Given the description of an element on the screen output the (x, y) to click on. 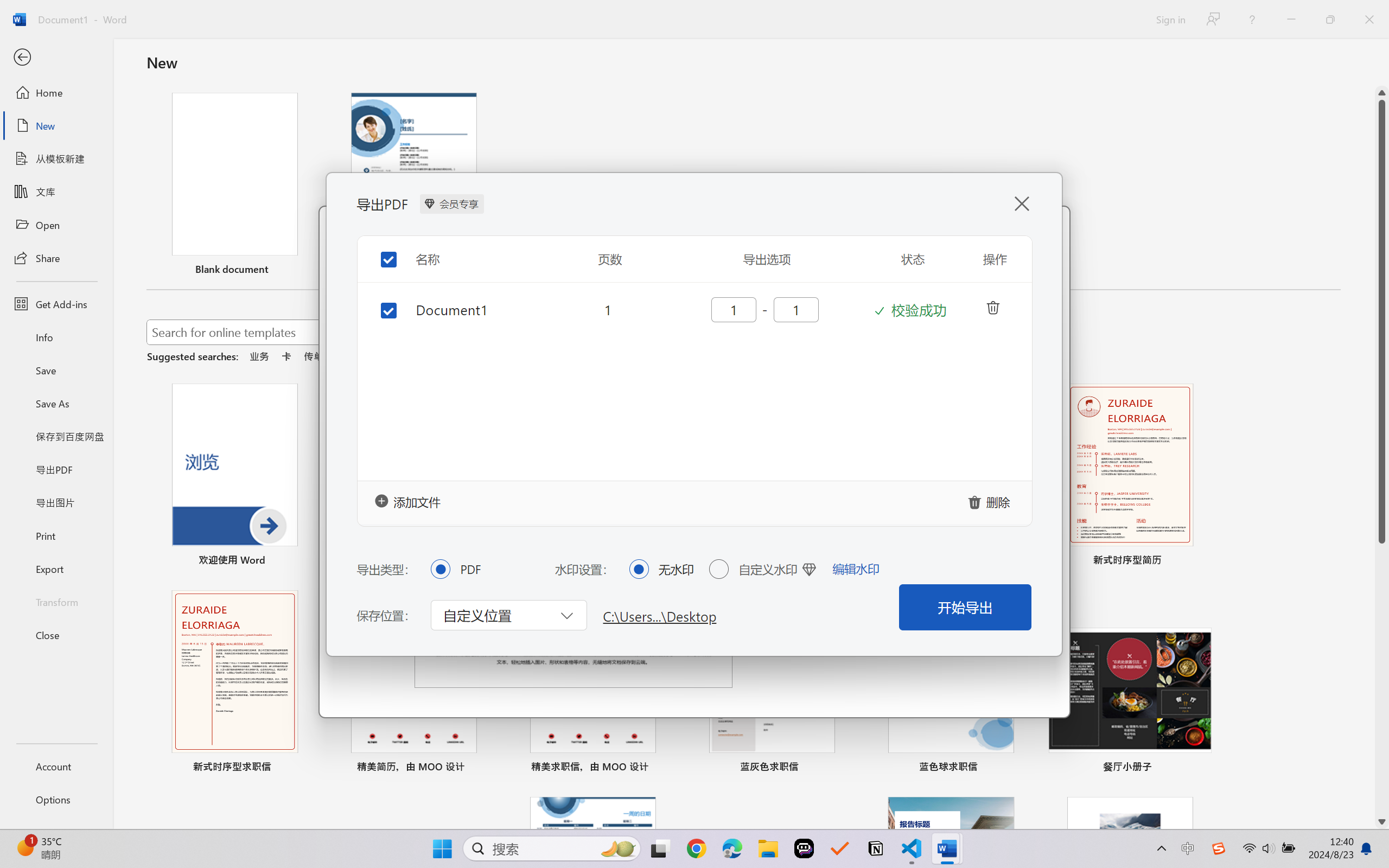
Get Add-ins (56, 303)
Save As (56, 403)
Options (56, 798)
Export (56, 568)
AutomationID: input36 (732, 308)
Print (56, 535)
